Given the description of an element on the screen output the (x, y) to click on. 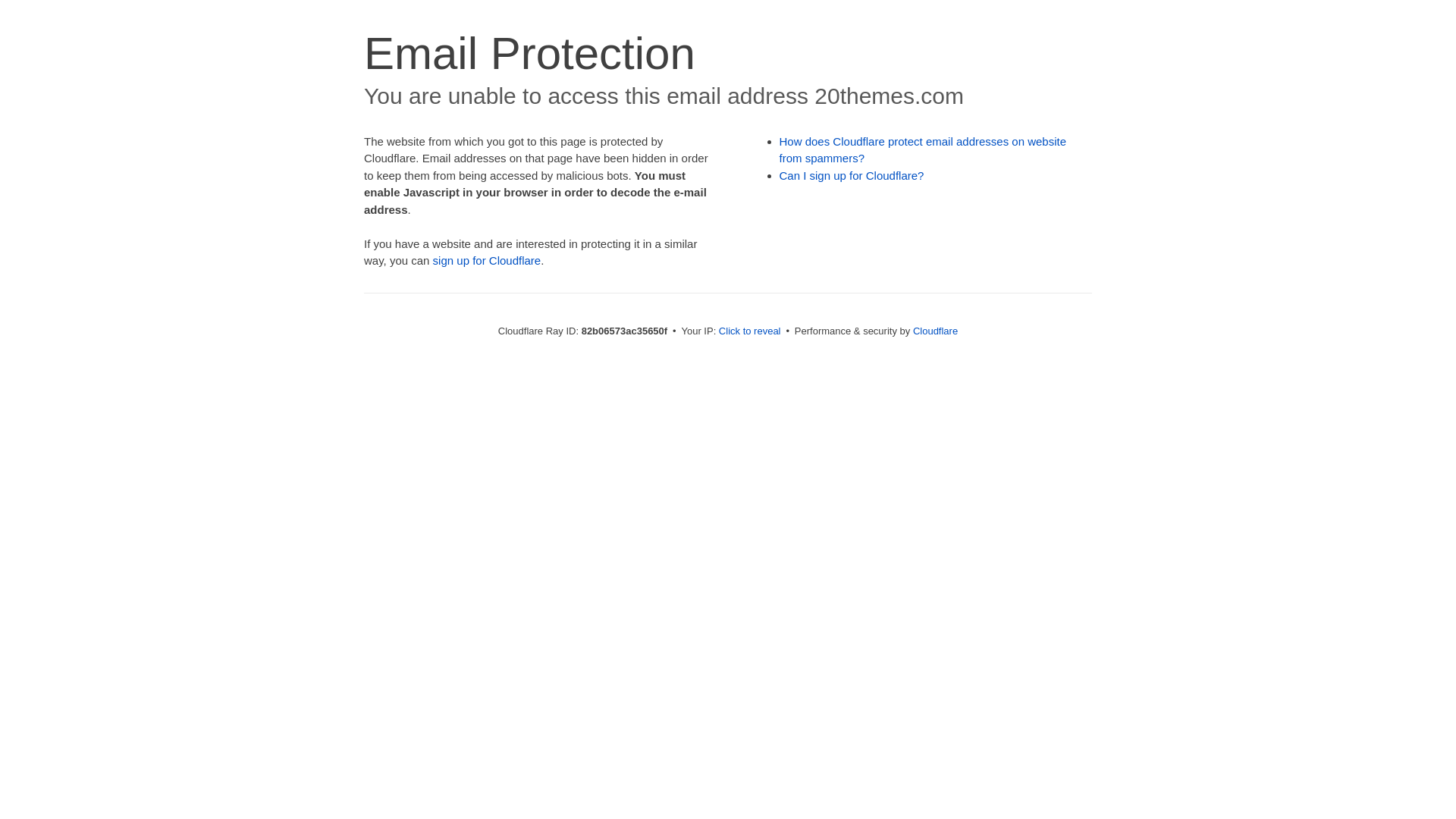
Can I sign up for Cloudflare? Element type: text (851, 175)
Click to reveal Element type: text (749, 330)
Cloudflare Element type: text (935, 330)
sign up for Cloudflare Element type: text (487, 260)
